Given the description of an element on the screen output the (x, y) to click on. 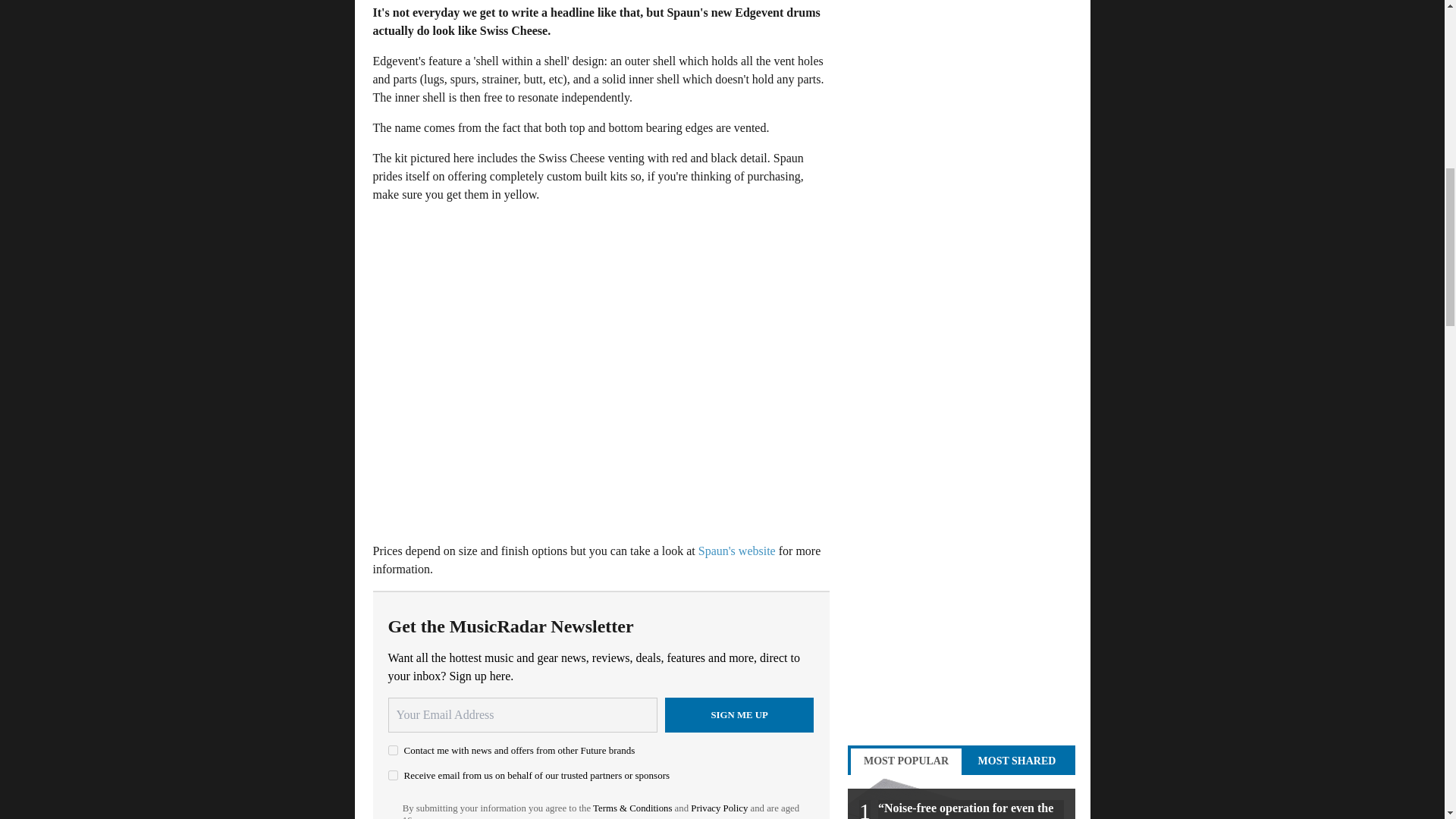
on (392, 750)
Sign me up (739, 714)
on (392, 775)
